Given the description of an element on the screen output the (x, y) to click on. 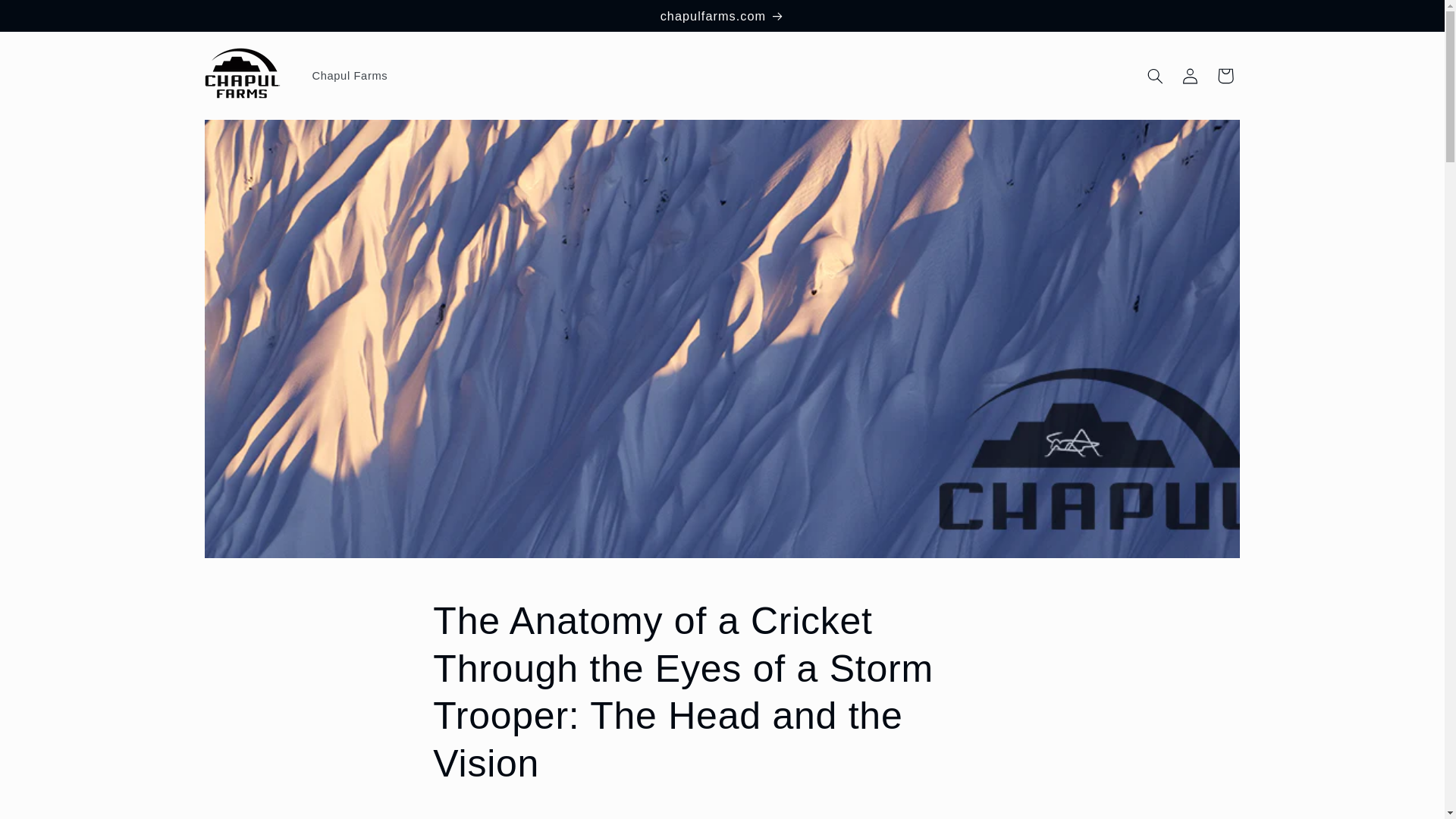
Log in (1190, 75)
Skip to content (48, 18)
Cart (1225, 75)
Chapul Farms (349, 75)
chapulfarms.com (722, 15)
